Given the description of an element on the screen output the (x, y) to click on. 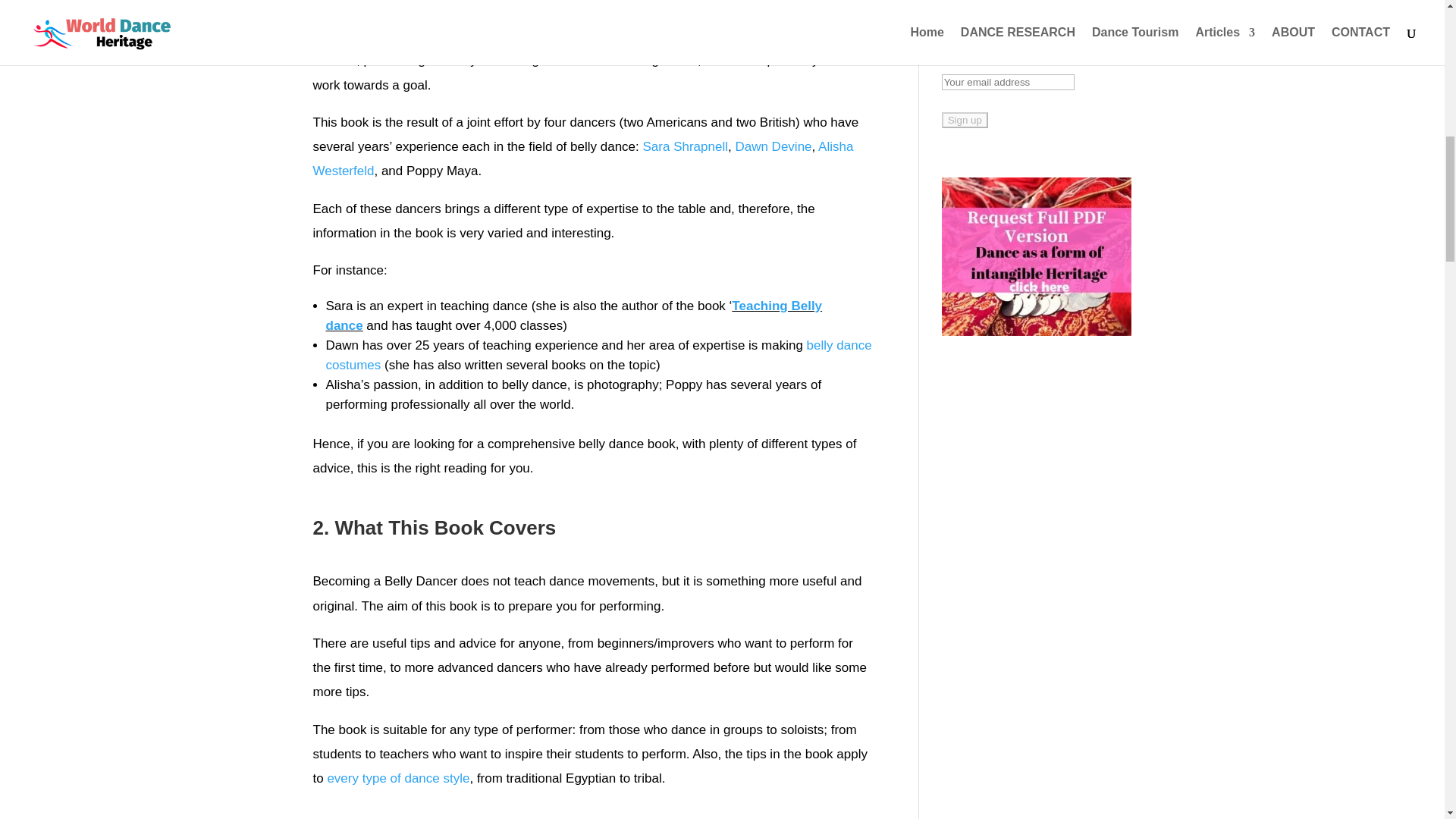
local hafla (579, 15)
belly dance costumes (599, 355)
Teaching Belly dance (574, 315)
Dawn Devine (772, 146)
Sign up (965, 119)
every type of dance style (397, 778)
Alisha Westerfeld (583, 158)
Sara Shrapnell (685, 146)
